Given the description of an element on the screen output the (x, y) to click on. 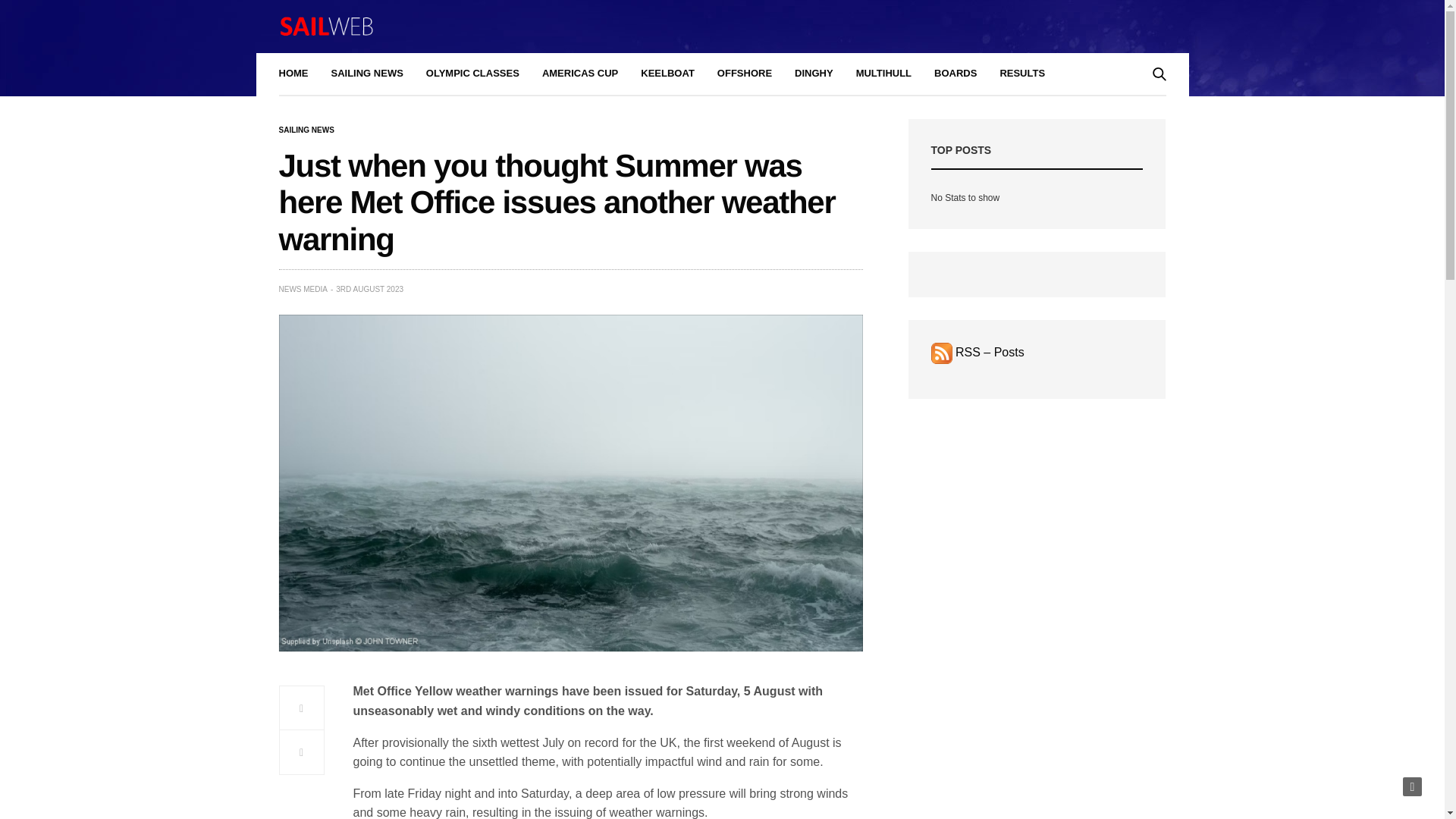
BOARDS (955, 73)
SAILING NEWS (366, 73)
OLYMPIC CLASSES (472, 73)
NEWS MEDIA (303, 289)
DINGHY (813, 73)
RESULTS (1021, 73)
Sailing News (306, 130)
KEELBOAT (667, 73)
MULTIHULL (883, 73)
OFFSHORE (744, 73)
HOME (293, 73)
SAILING NEWS (306, 130)
AMERICAS CUP (579, 73)
Posts by News Media (303, 289)
Subscribe to posts (978, 351)
